Given the description of an element on the screen output the (x, y) to click on. 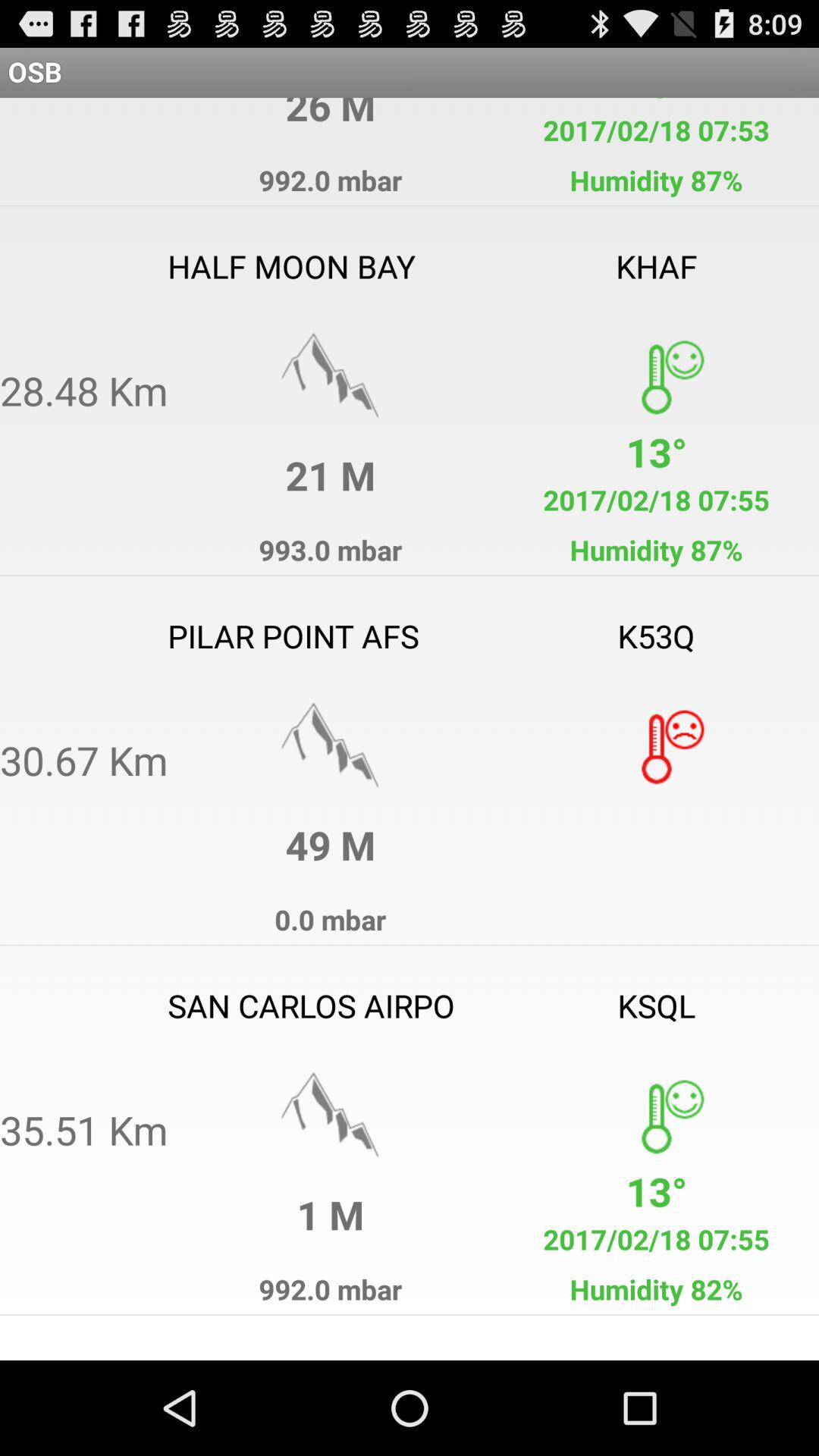
go to the icon which is just below the ksql (656, 1114)
select the icon which is in the red color (656, 744)
